Given the description of an element on the screen output the (x, y) to click on. 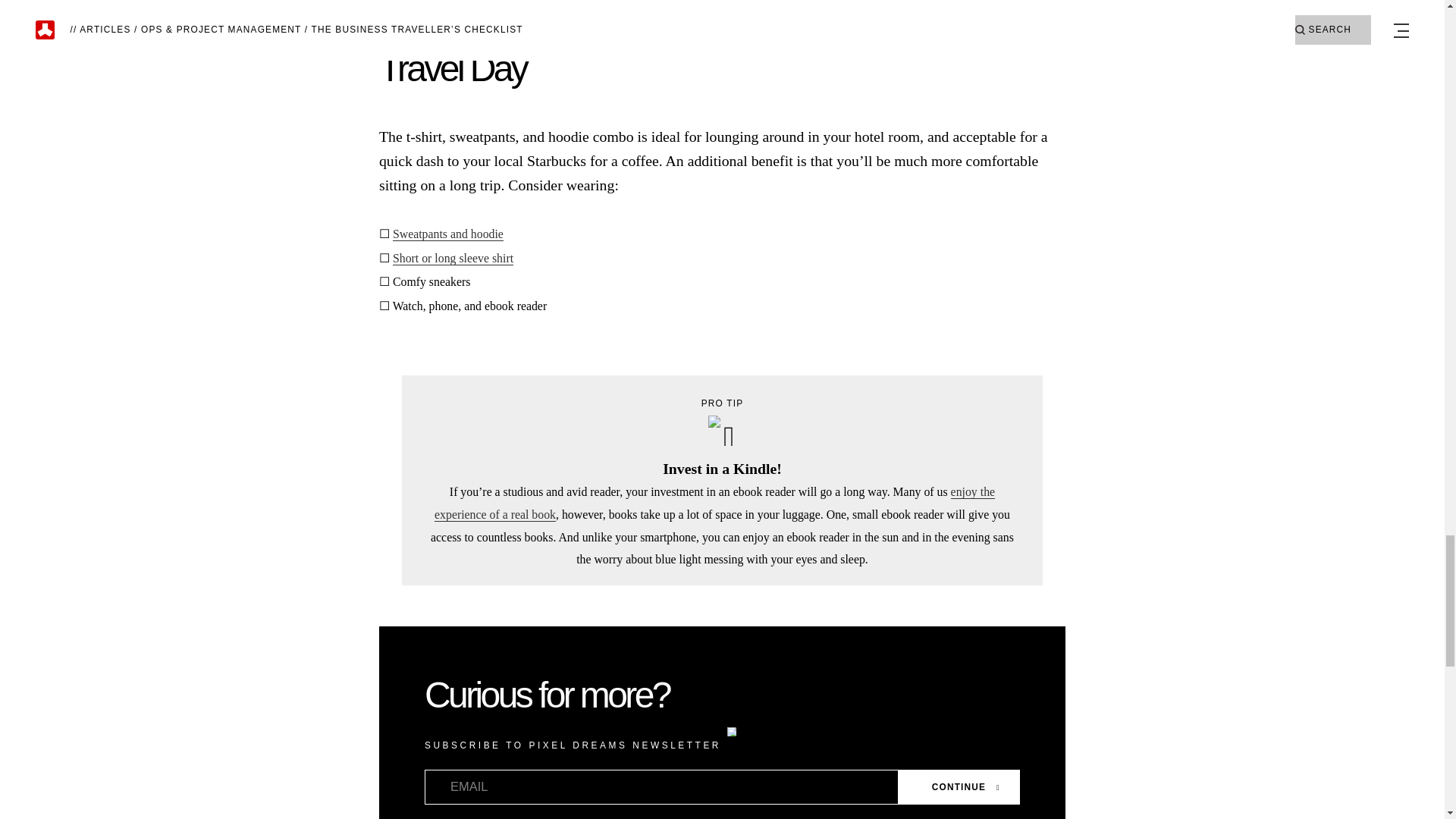
Short or long sleeve shirt (453, 258)
enjoy the experience of a real book (713, 503)
CONTINUE (959, 786)
Sweatpants and hoodie (448, 233)
